Given the description of an element on the screen output the (x, y) to click on. 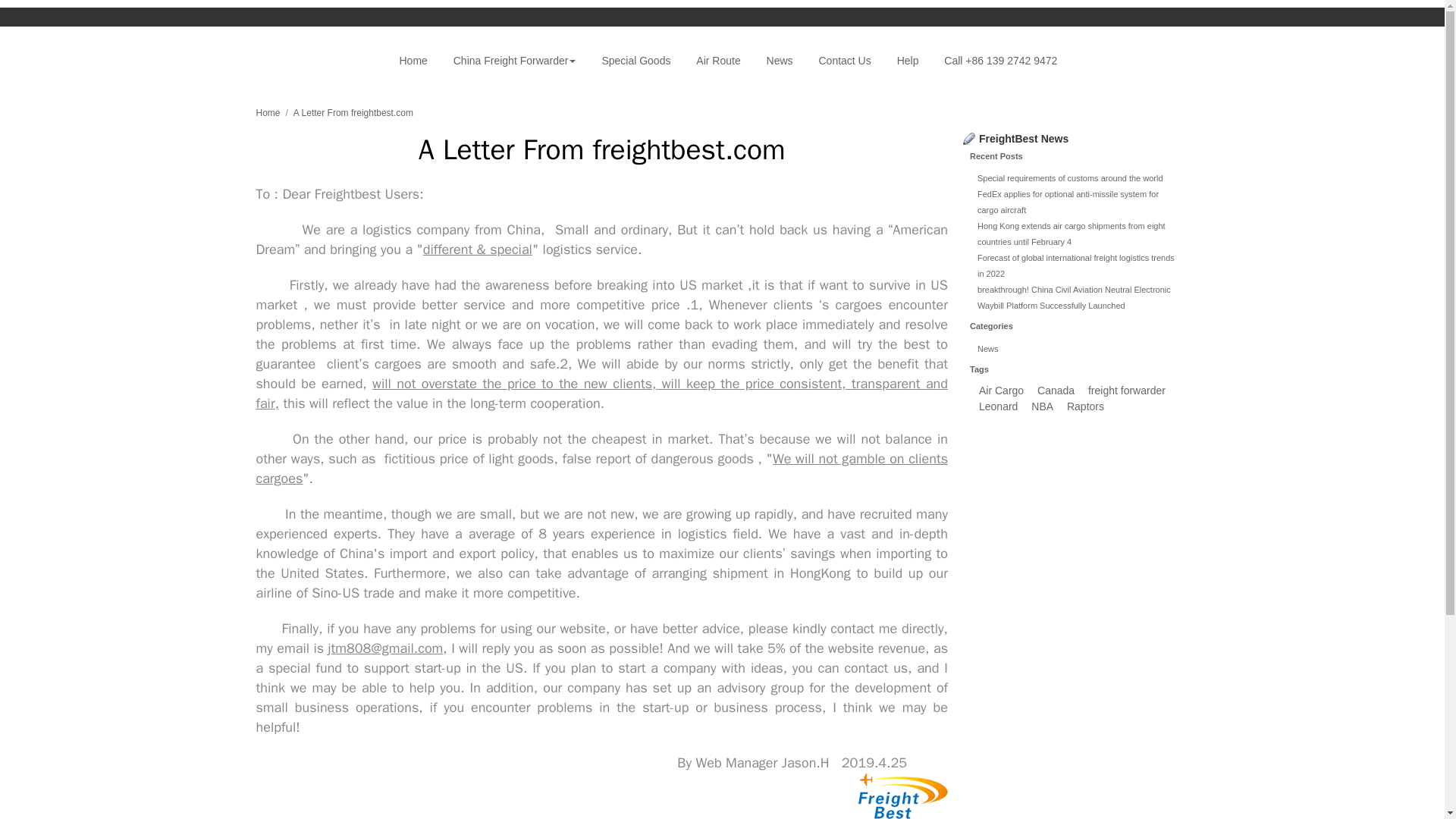
Air Cargo (1000, 390)
China Freight Forwarder (515, 60)
Home (268, 112)
Special Goods (635, 60)
Air Route (717, 60)
News (780, 60)
Special requirements of customs around the world (1069, 177)
News (987, 347)
